Given the description of an element on the screen output the (x, y) to click on. 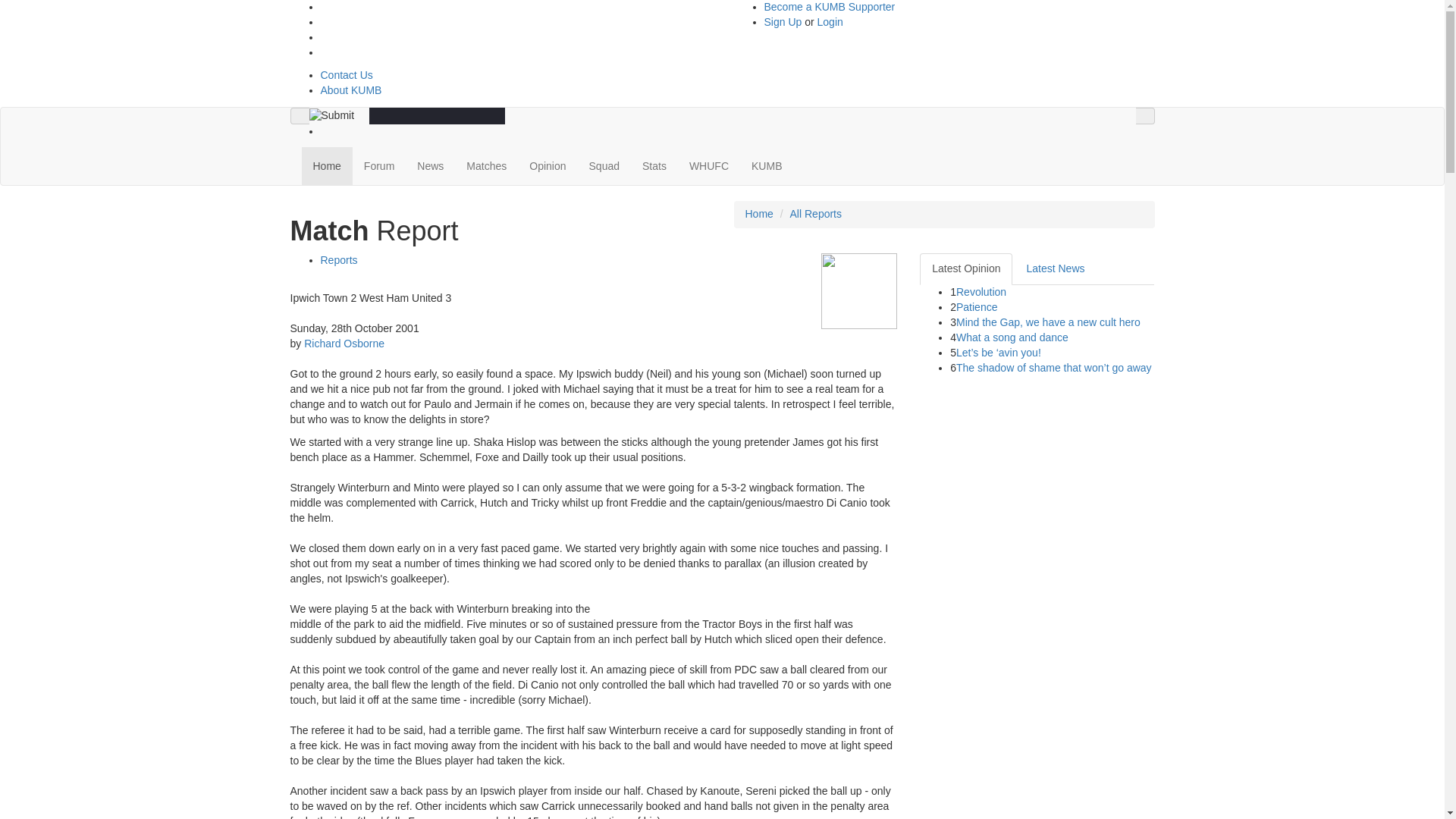
Forum (379, 166)
Become a KUMB Supporter (829, 6)
Login (828, 21)
Contact Us (346, 74)
Sign Up (784, 21)
News (430, 166)
Home (326, 166)
Matches (486, 166)
About KUMB (350, 90)
